Given the description of an element on the screen output the (x, y) to click on. 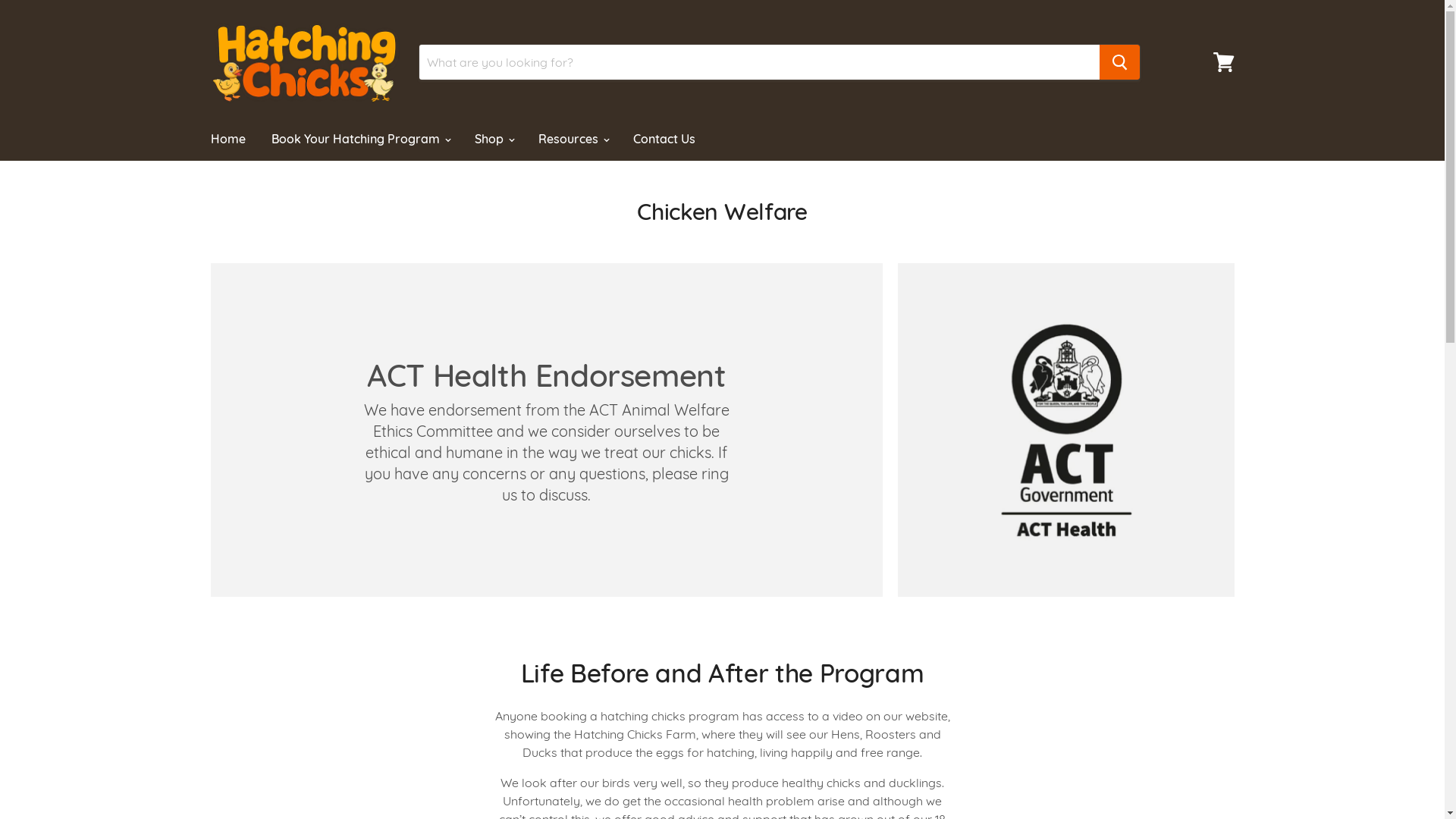
Contact Us Element type: text (663, 138)
Home Element type: text (227, 138)
View cart Element type: text (1223, 61)
Book Your Hatching Program Element type: text (359, 138)
Shop Element type: text (492, 138)
Resources Element type: text (572, 138)
